Given the description of an element on the screen output the (x, y) to click on. 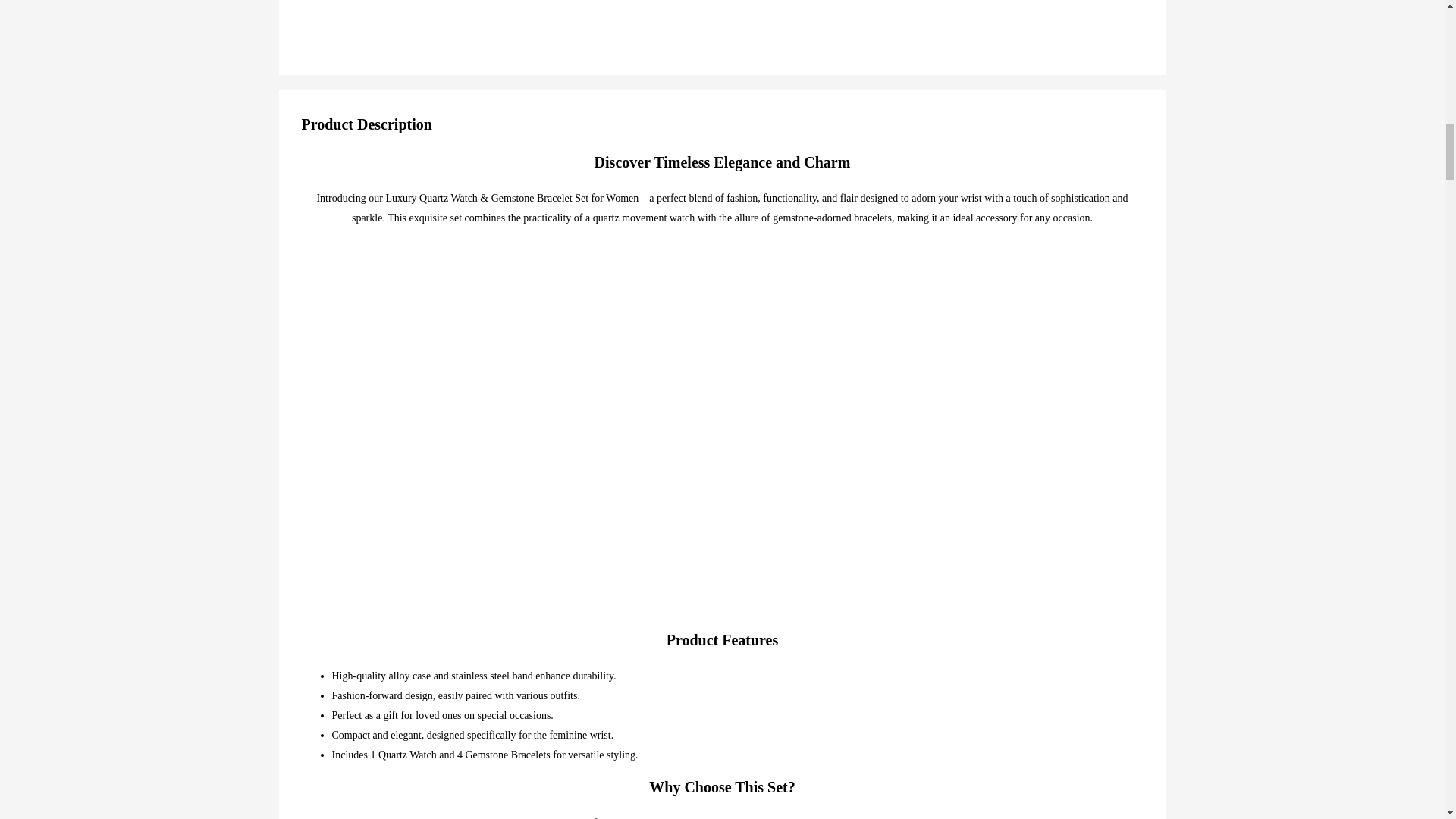
30653-df49c5.png (490, 14)
30653-c9a984.jpg (770, 14)
